Given the description of an element on the screen output the (x, y) to click on. 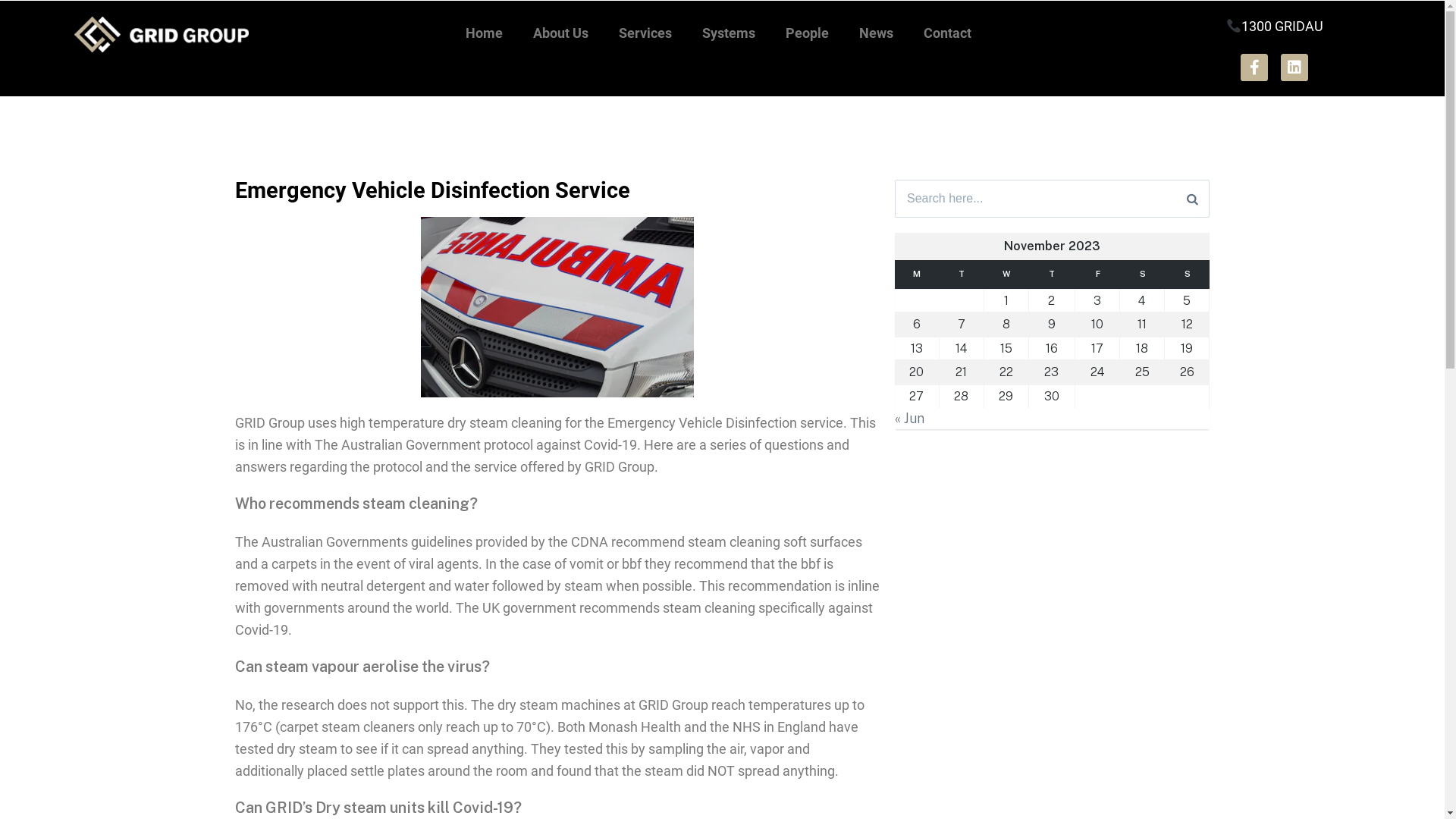
News Element type: text (876, 32)
Contact Element type: text (947, 32)
Services Element type: text (645, 32)
1300 GRIDAU Element type: text (1274, 26)
People Element type: text (807, 32)
Home Element type: text (483, 32)
Systems Element type: text (728, 32)
About Us Element type: text (560, 32)
